Given the description of an element on the screen output the (x, y) to click on. 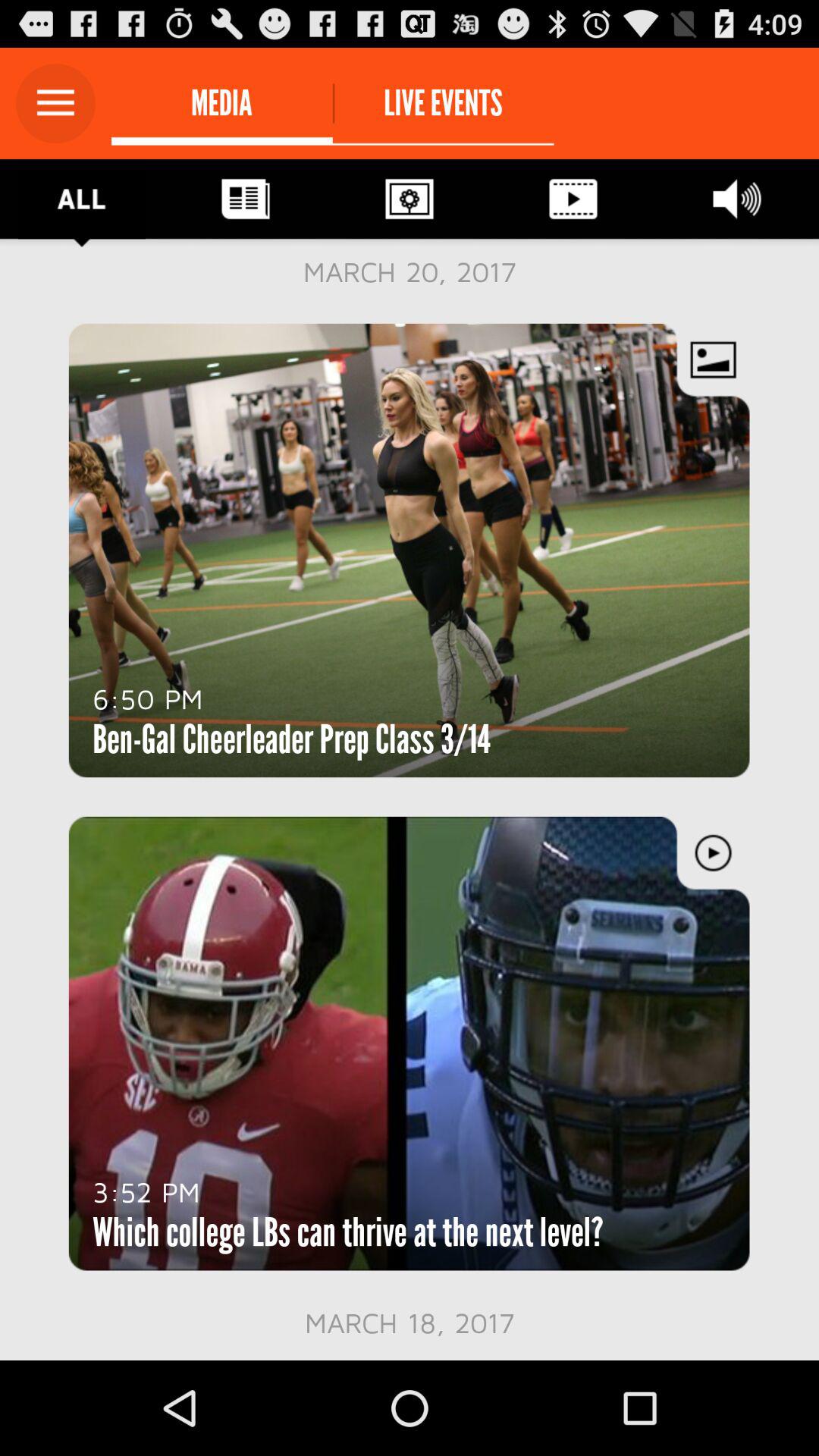
open icon below 6:50 pm (291, 739)
